Given the description of an element on the screen output the (x, y) to click on. 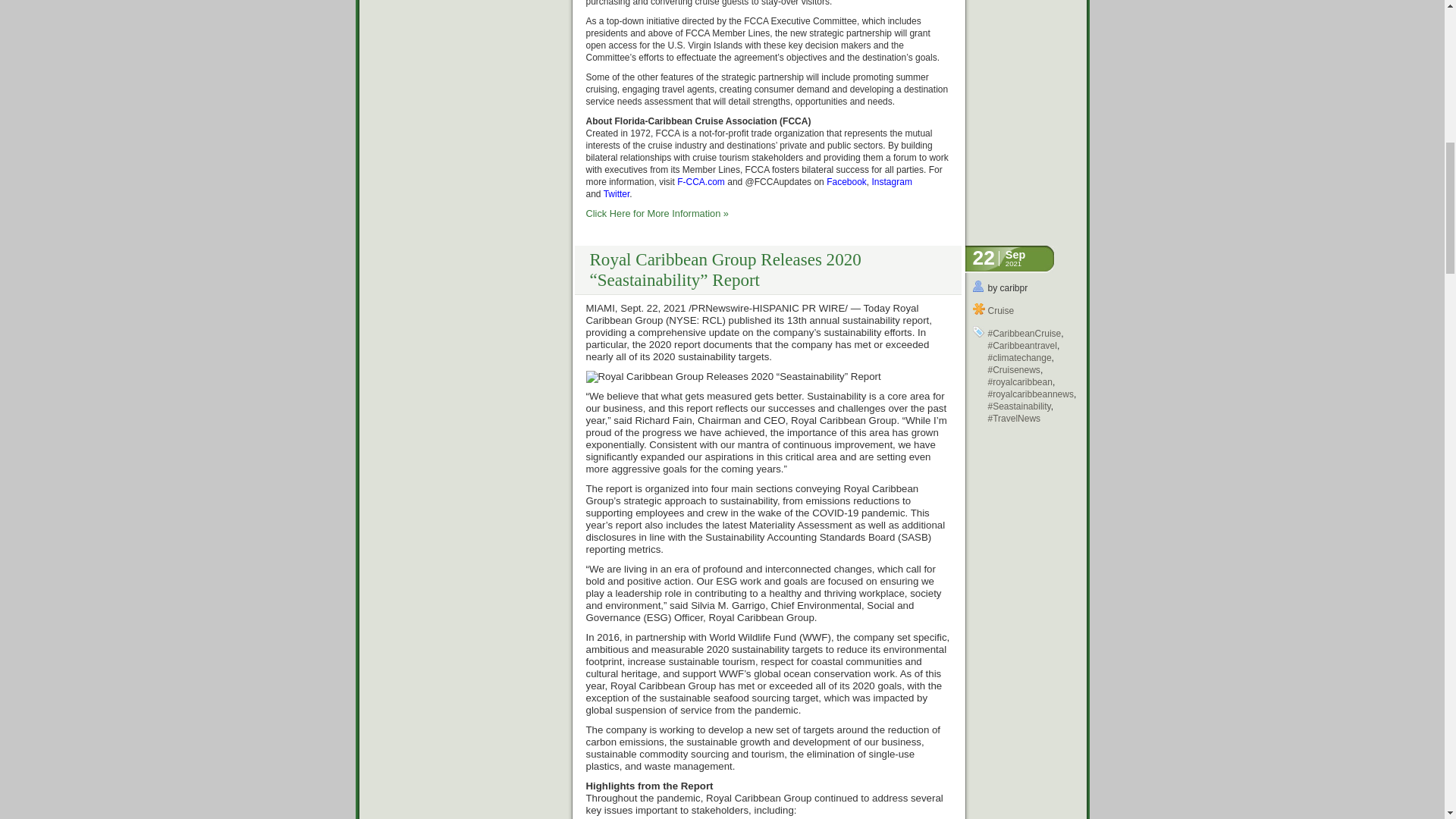
Twitter (617, 194)
Facebook (846, 181)
F-CCA.com (701, 181)
Instagram (892, 181)
